Given the description of an element on the screen output the (x, y) to click on. 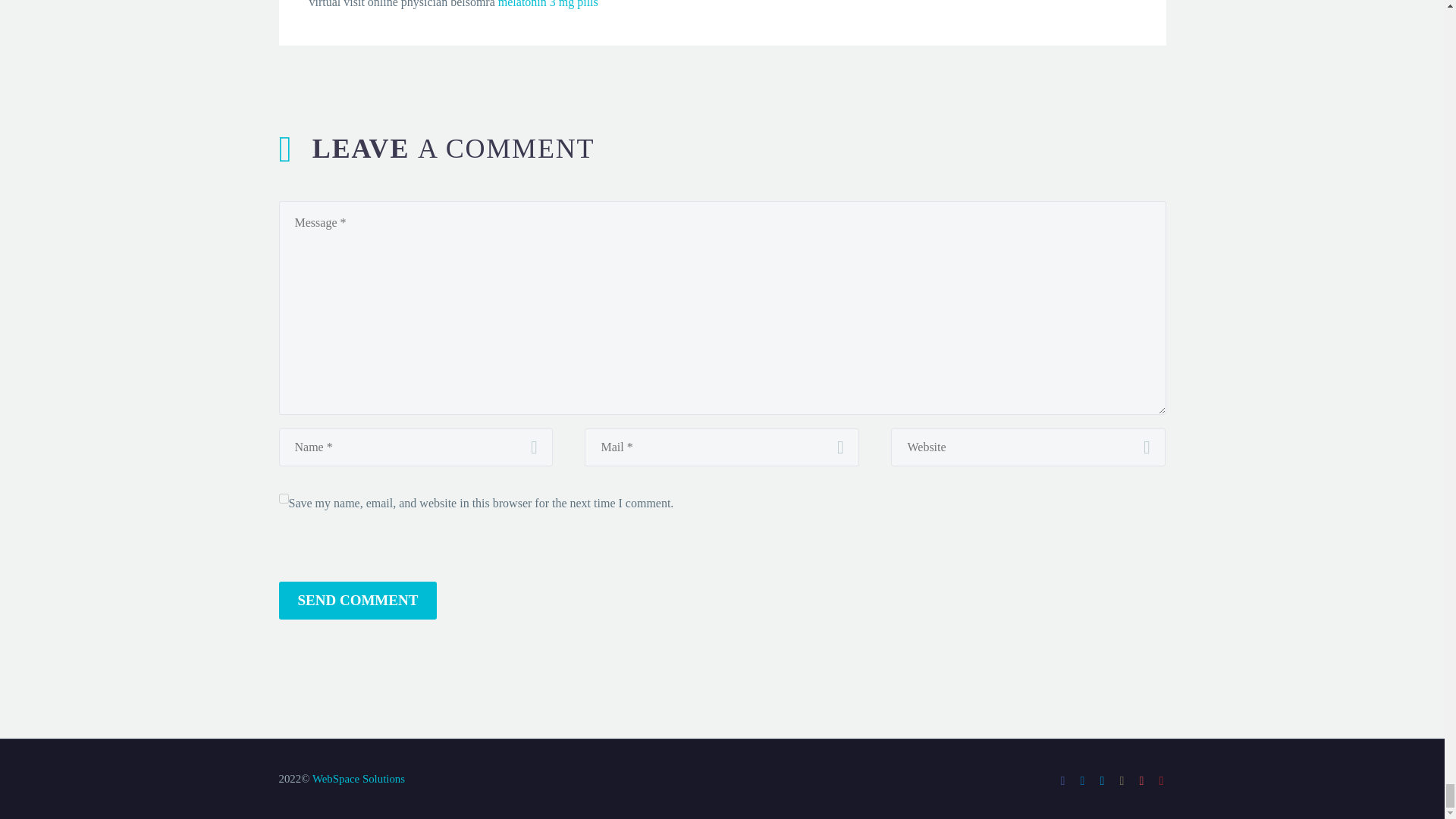
Pinterest (1141, 780)
Twitter (1102, 780)
Instagram (1122, 780)
yes (283, 498)
YouTube (1161, 780)
LinkedIn (1083, 780)
Facebook (1062, 780)
